Given the description of an element on the screen output the (x, y) to click on. 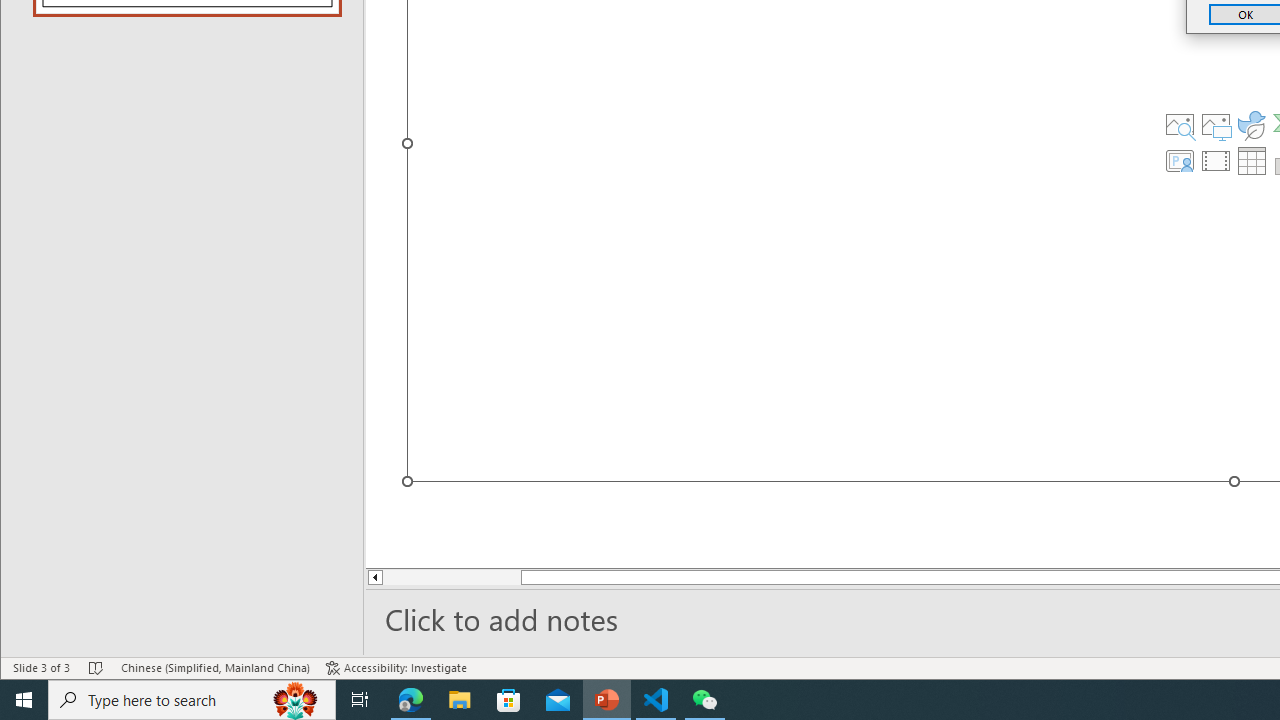
Insert an Icon (1252, 124)
Stock Images (1179, 124)
Microsoft Edge - 1 running window (411, 699)
